Given the description of an element on the screen output the (x, y) to click on. 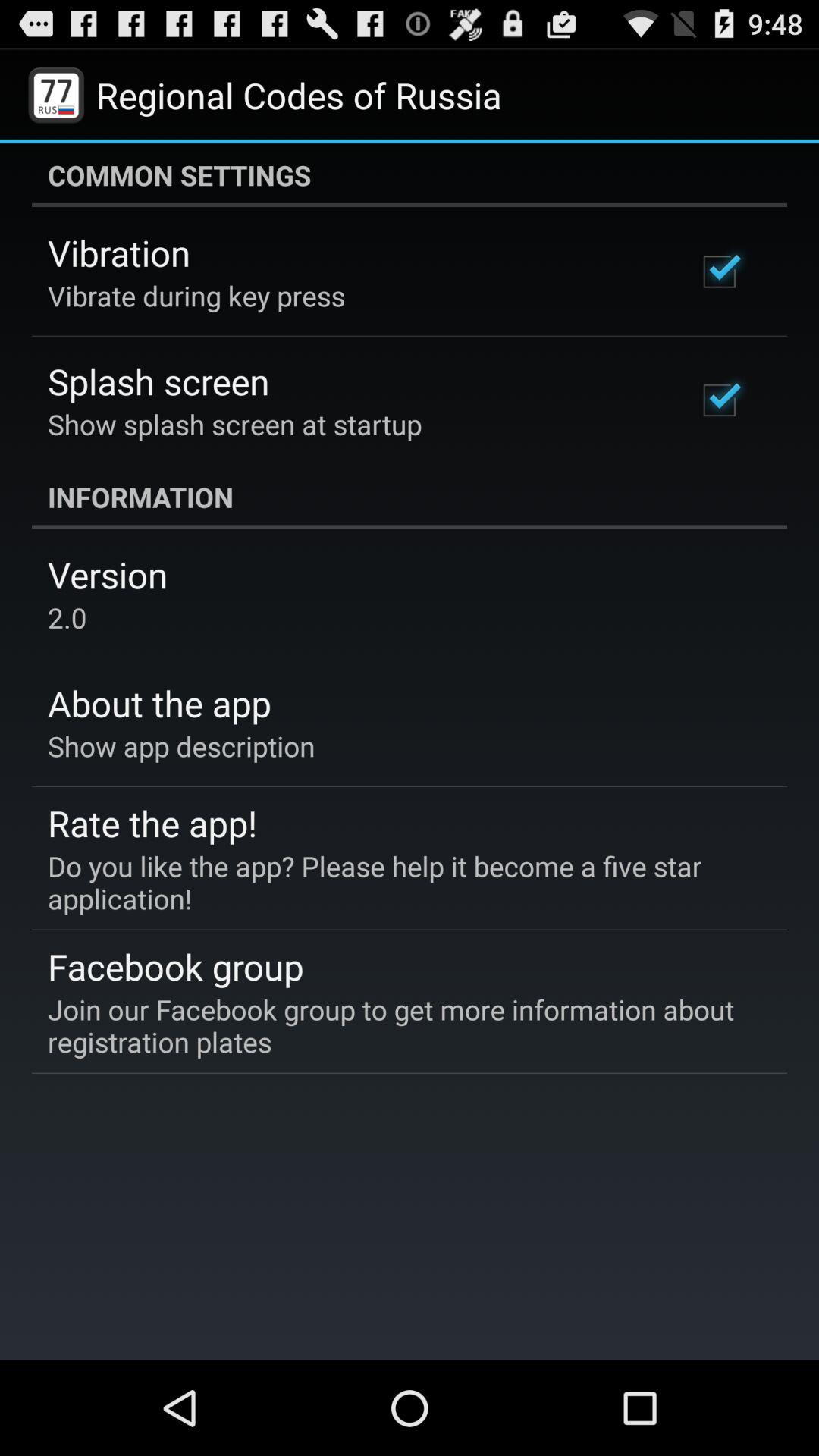
jump to join our facebook app (399, 1025)
